Given the description of an element on the screen output the (x, y) to click on. 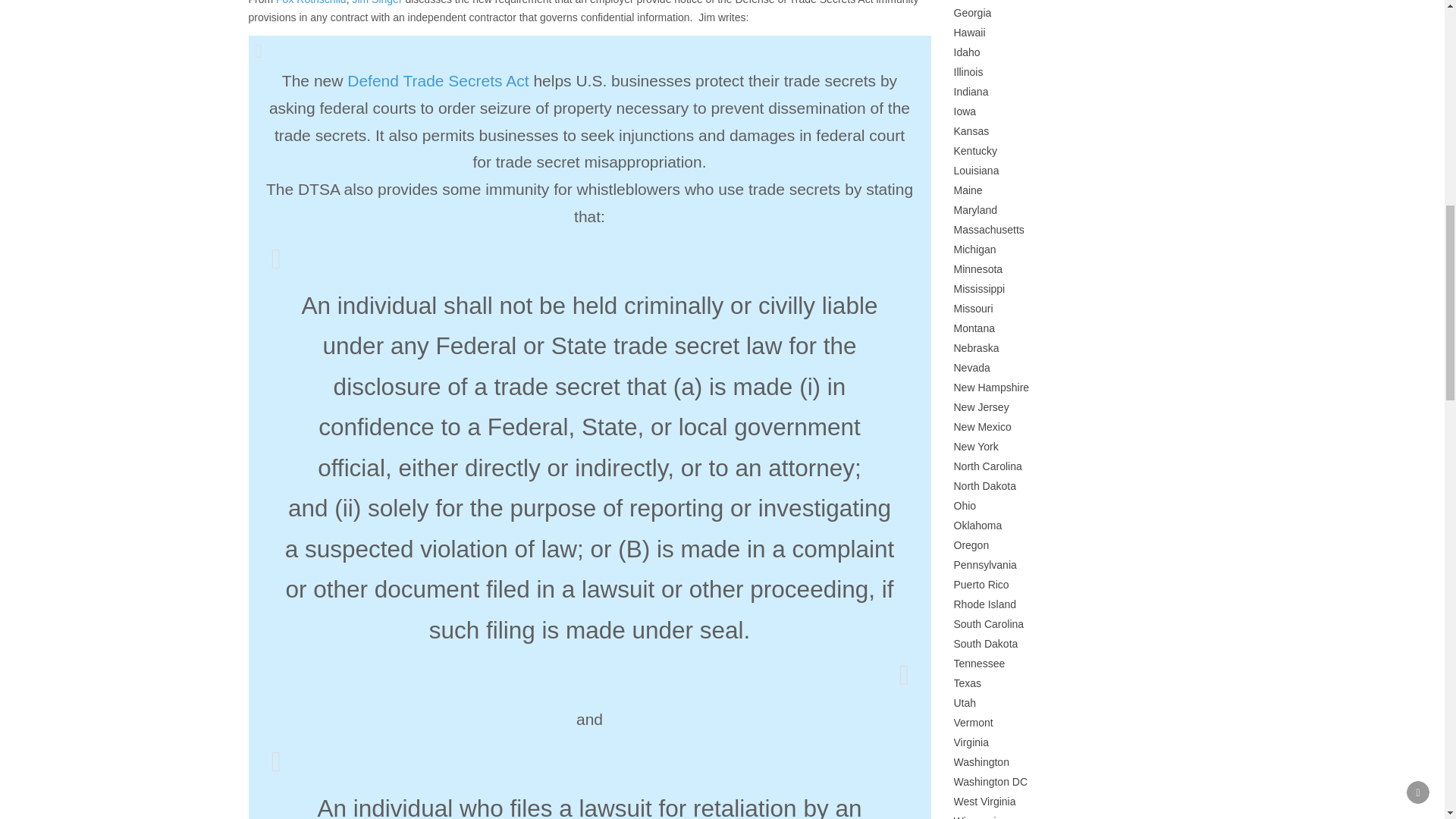
Georgia (972, 12)
Illinois (968, 71)
Hawaii (969, 32)
Defend Trade Secrets Act (437, 80)
Jim Singer (376, 2)
Idaho (966, 51)
Fox Rothschild (311, 2)
